Given the description of an element on the screen output the (x, y) to click on. 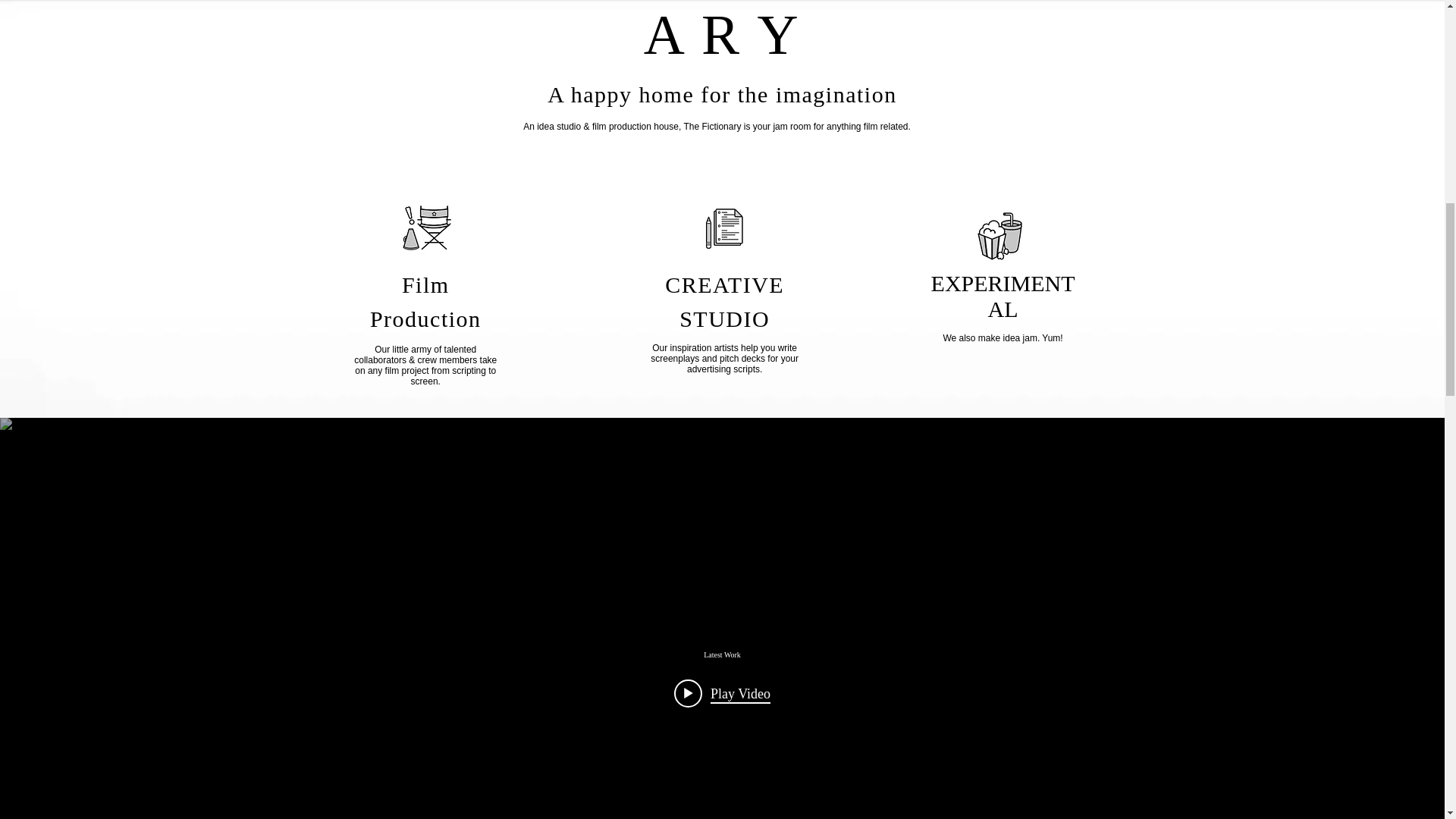
CREATIVE STUDIO (724, 301)
EXPERIMENTAL (1003, 296)
Latest Work (721, 654)
Film Production (425, 301)
Play Video (722, 693)
